Given the description of an element on the screen output the (x, y) to click on. 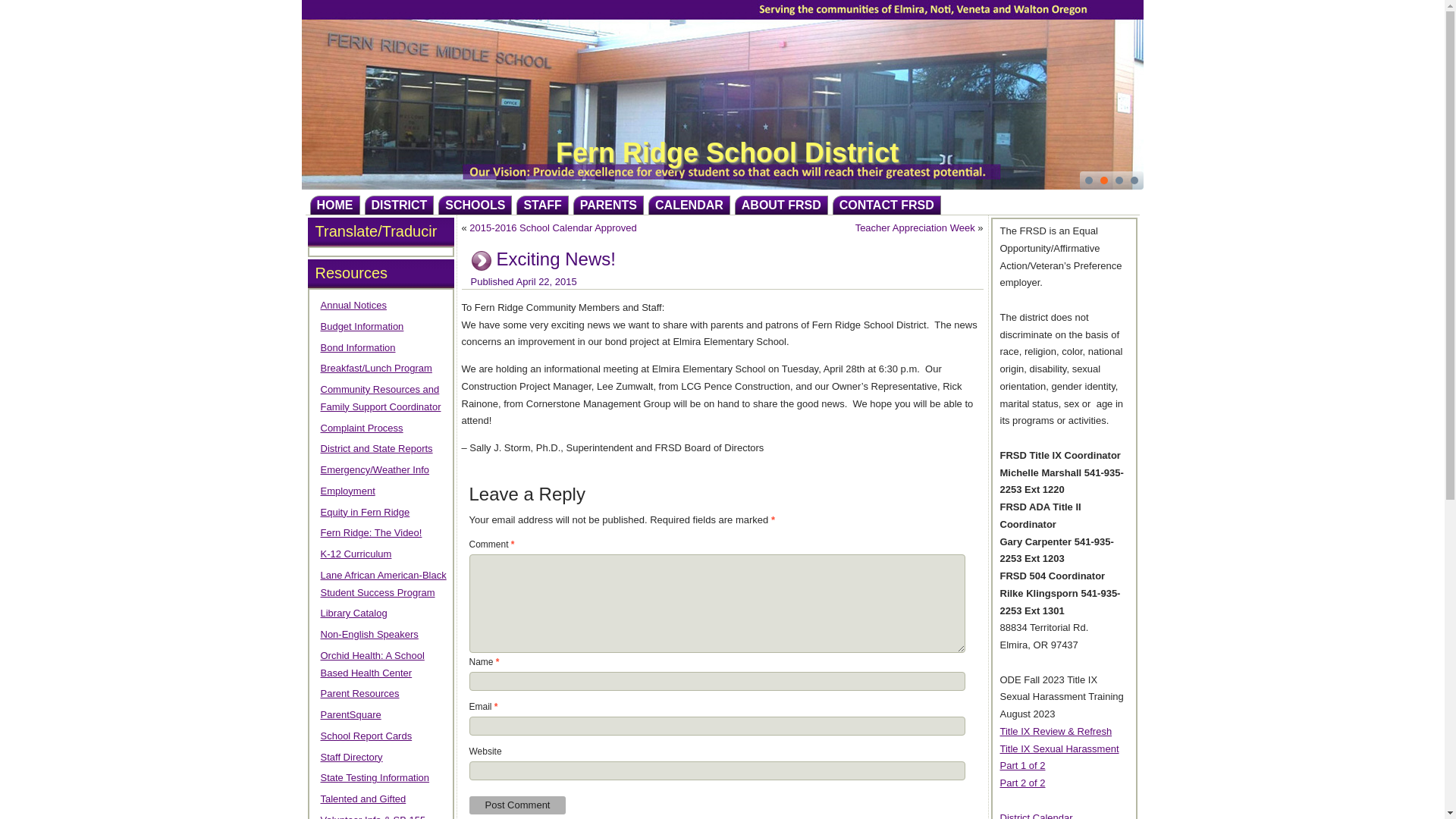
STAFF (541, 204)
District (398, 204)
DISTRICT (398, 204)
Fern Ridge School District (727, 152)
PARENTS (608, 204)
Schools (475, 204)
Post Comment (517, 805)
Home (333, 204)
HOME (333, 204)
SCHOOLS (475, 204)
